Given the description of an element on the screen output the (x, y) to click on. 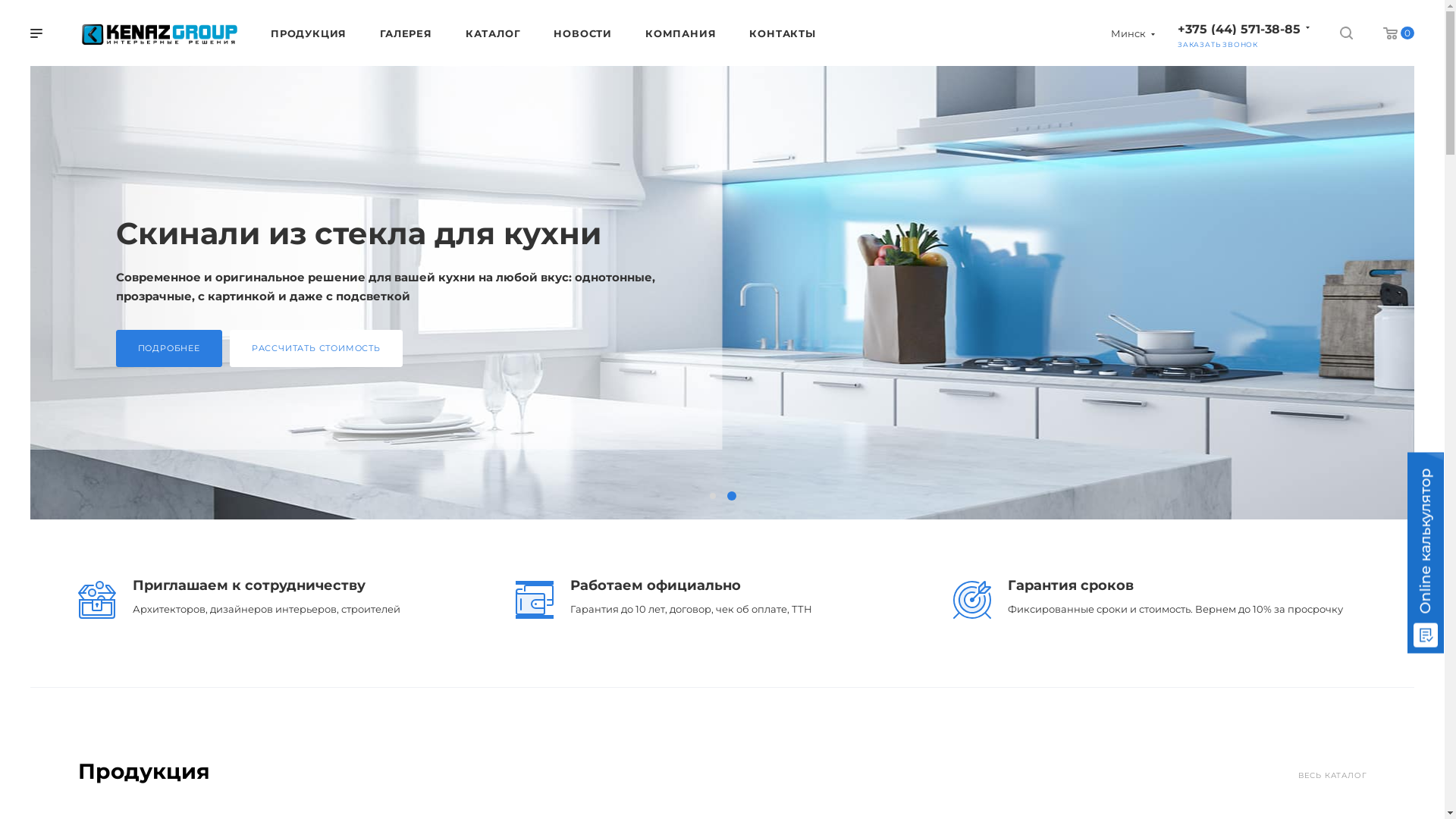
1 Element type: text (712, 495)
0 Element type: text (1398, 32)
2 Element type: text (731, 495)
+375 (44) 571-38-85 Element type: text (1238, 28)
